Given the description of an element on the screen output the (x, y) to click on. 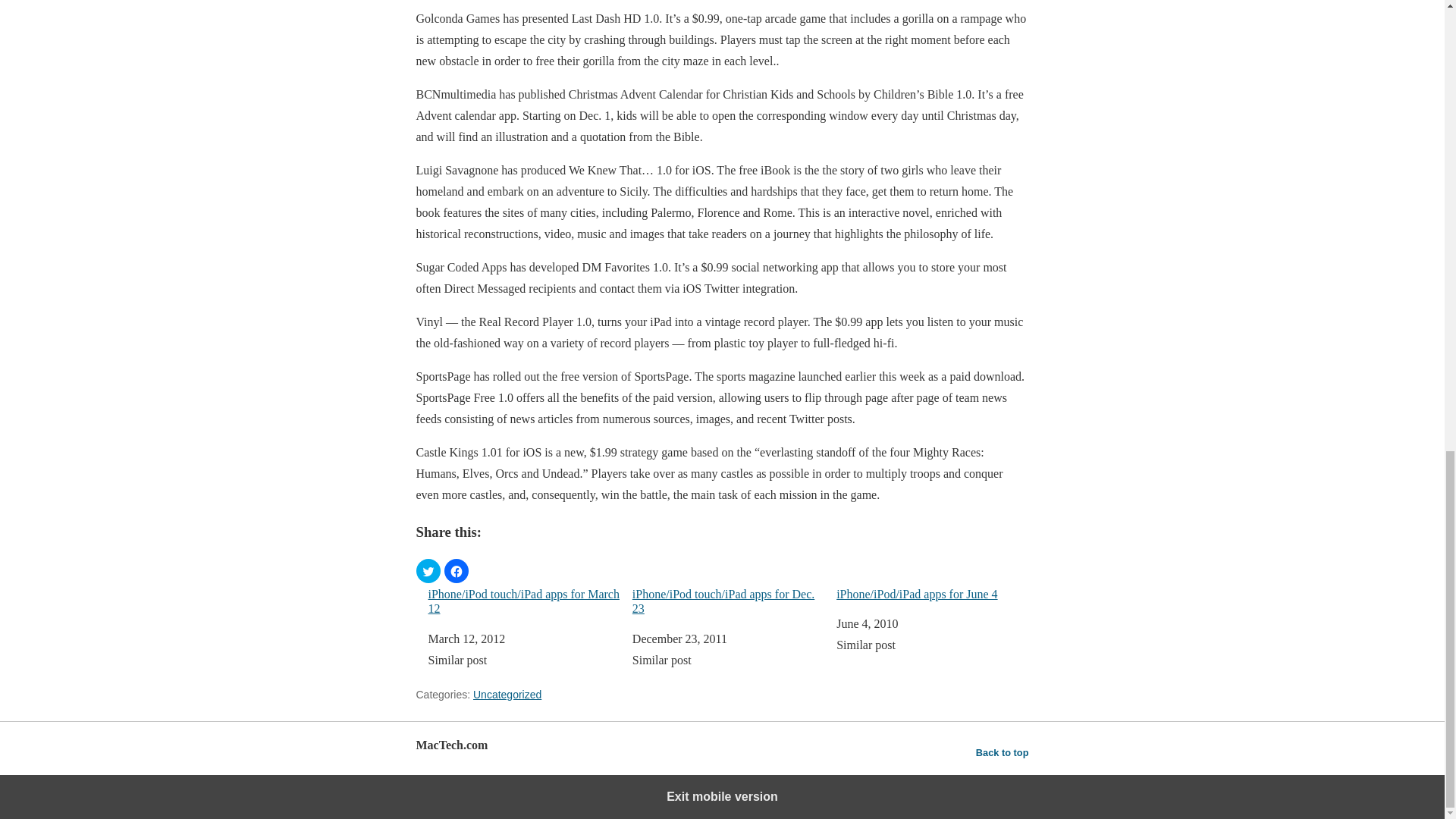
Uncategorized (507, 694)
Click to share on Twitter (426, 570)
Back to top (1002, 752)
Click to share on Facebook (456, 570)
